Given the description of an element on the screen output the (x, y) to click on. 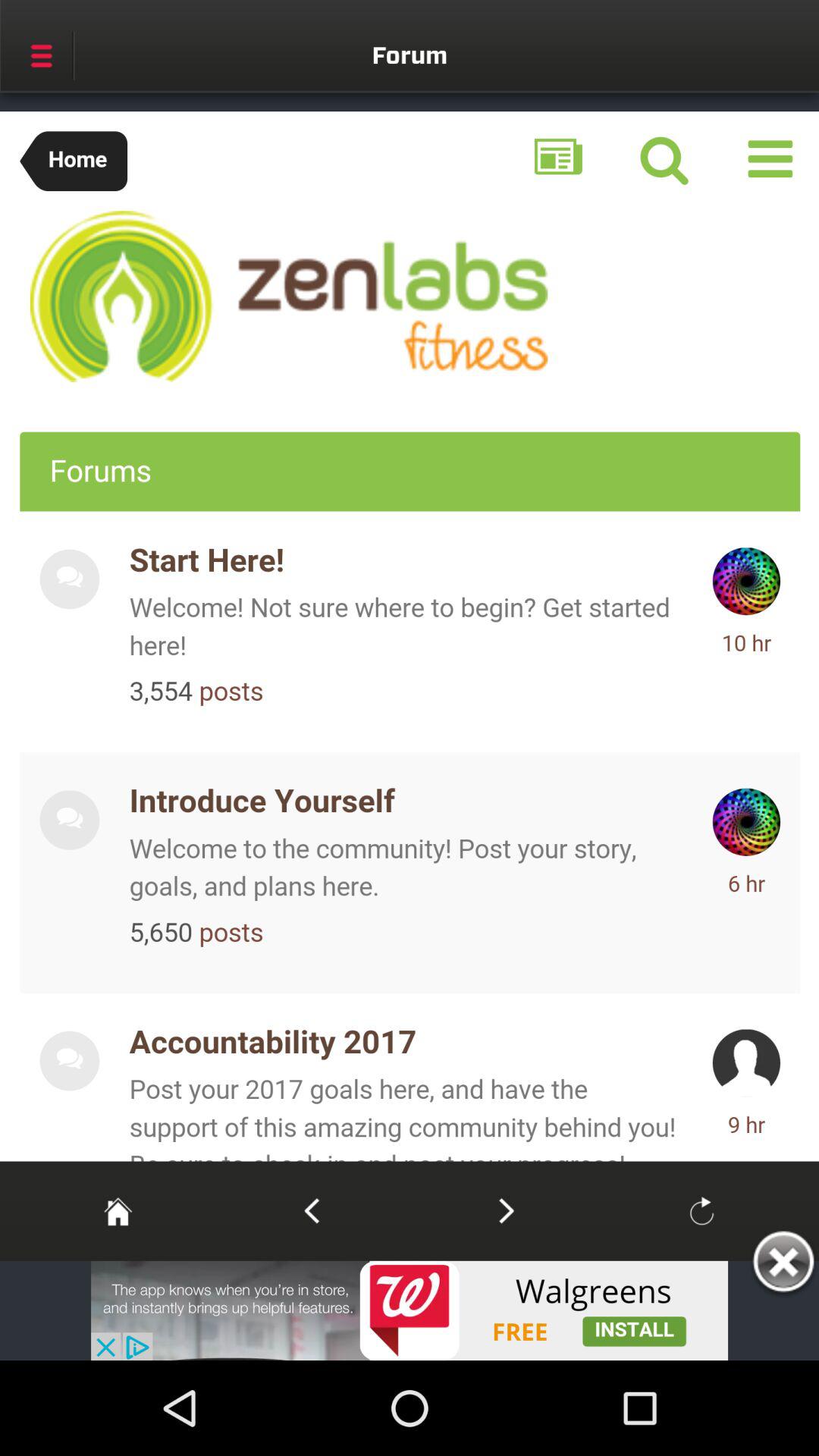
walgreens add to install the free app (409, 1310)
